Given the description of an element on the screen output the (x, y) to click on. 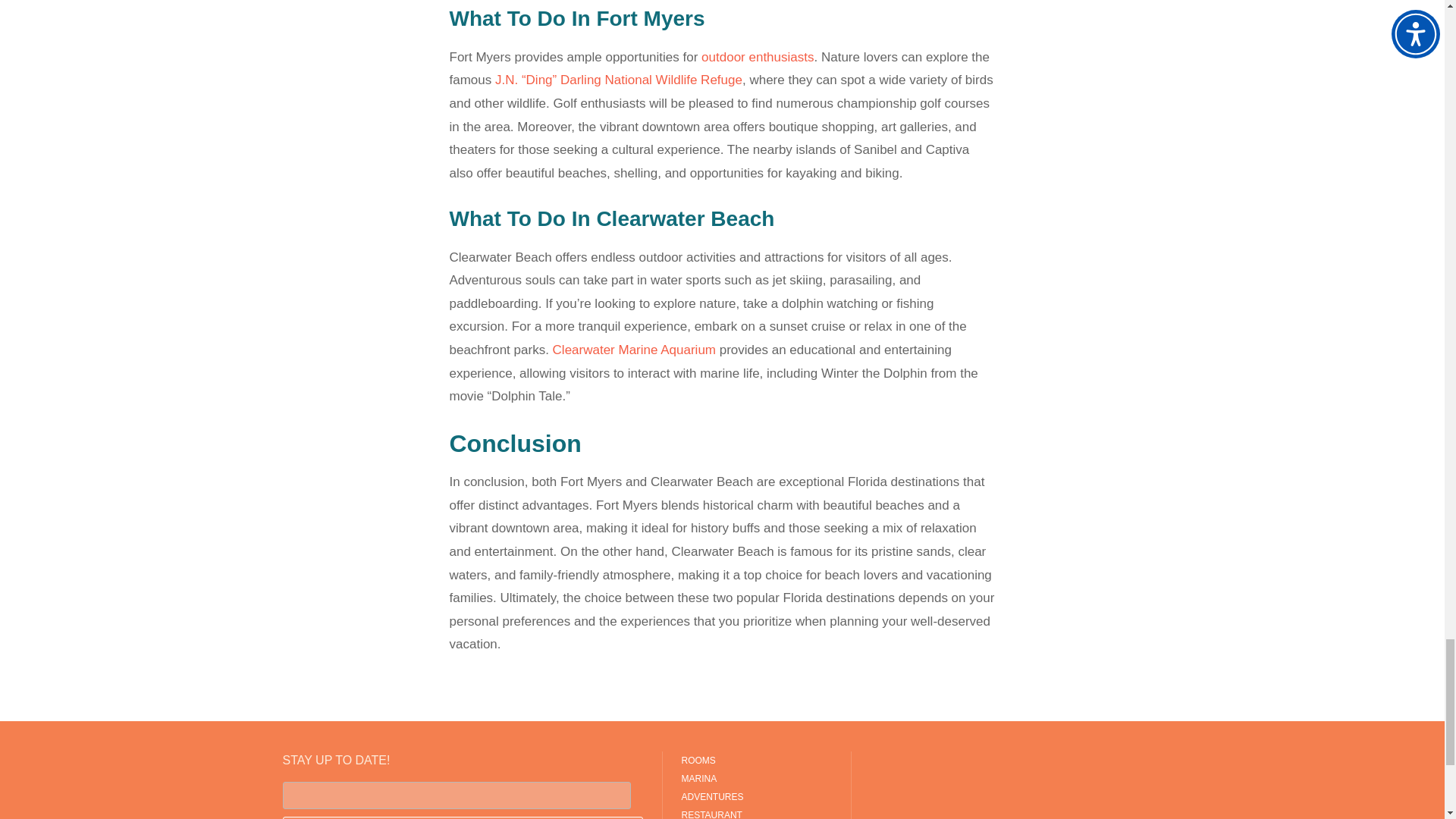
outdoor enthusiasts (757, 56)
MARINA (756, 778)
ROOMS (756, 760)
RESTAURANT (756, 812)
Clearwater Marine Aquarium (634, 350)
ADVENTURES (756, 796)
